Given the description of an element on the screen output the (x, y) to click on. 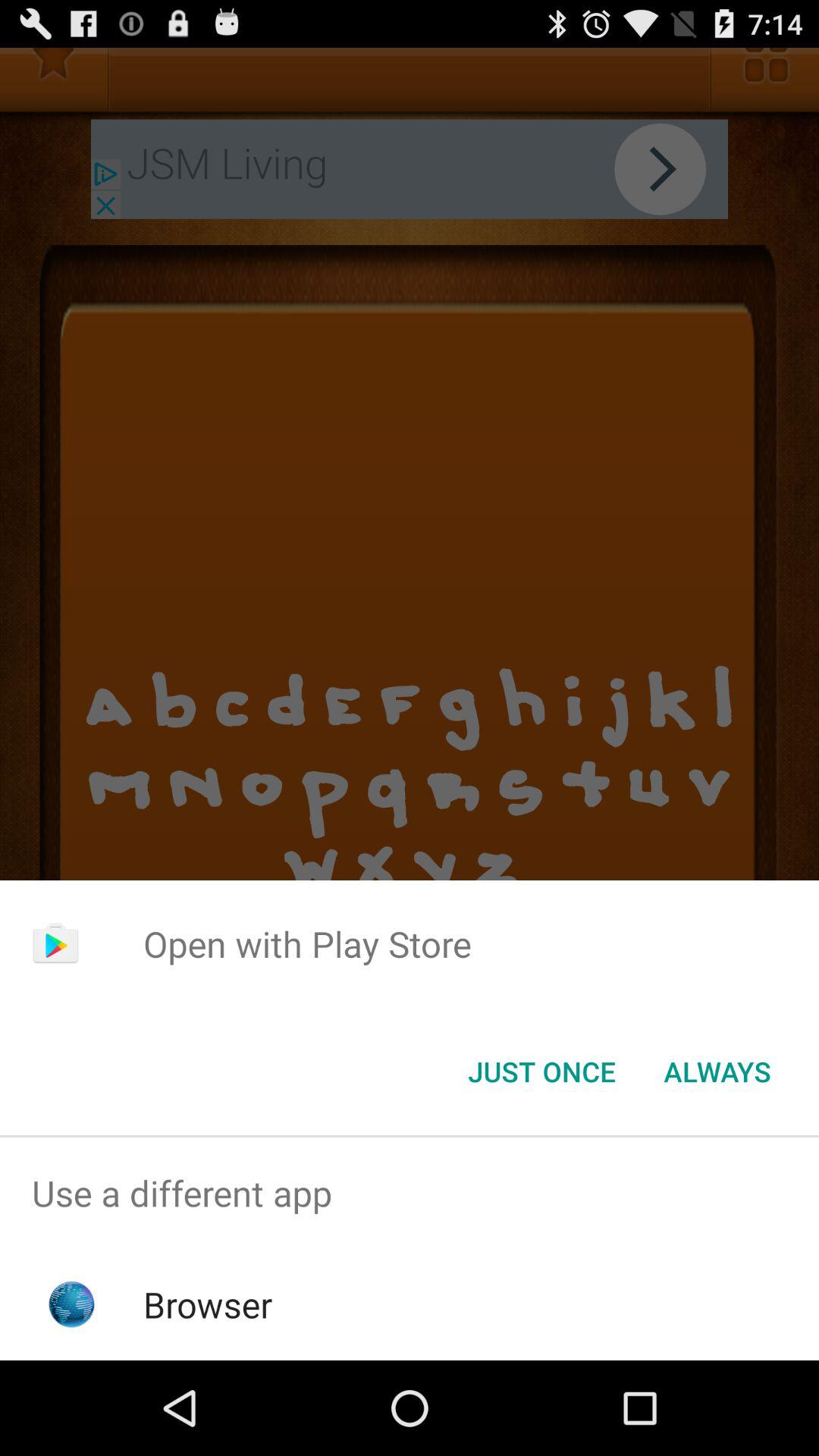
choose icon above browser icon (409, 1192)
